Given the description of an element on the screen output the (x, y) to click on. 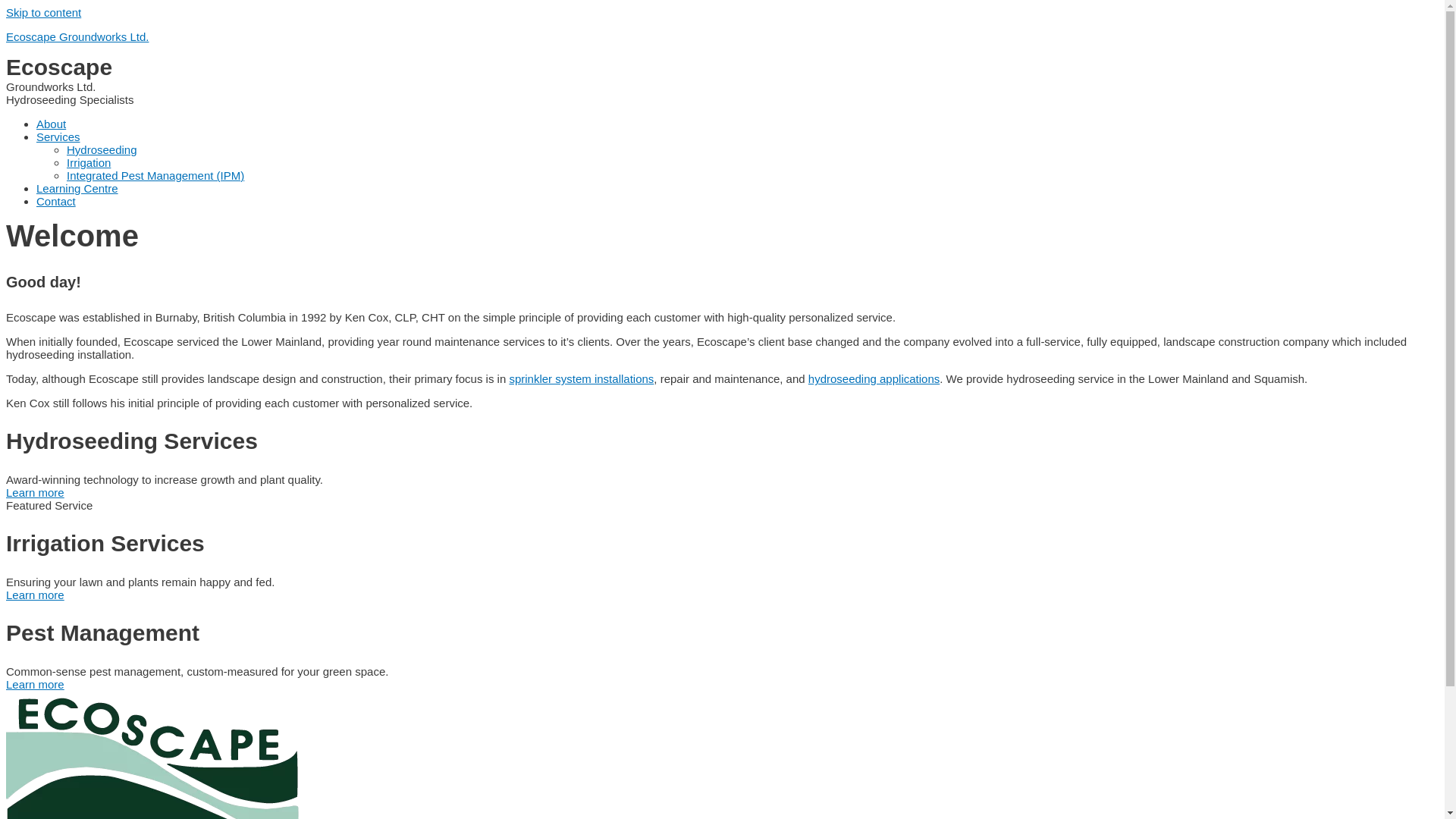
Irrigation Element type: text (88, 162)
Integrated Pest Management (IPM) Element type: text (155, 175)
Learn more Element type: text (35, 492)
Skip to content Element type: text (43, 12)
Learn more Element type: text (35, 683)
sprinkler system installations Element type: text (580, 378)
hydroseeding applications Element type: text (873, 378)
Ecoscape Groundworks Ltd. Element type: text (77, 36)
Contact Element type: text (55, 200)
Hydroseeding Element type: text (101, 149)
Learning Centre Element type: text (77, 188)
About Element type: text (50, 123)
Learn more Element type: text (35, 594)
Services Element type: text (58, 136)
